Given the description of an element on the screen output the (x, y) to click on. 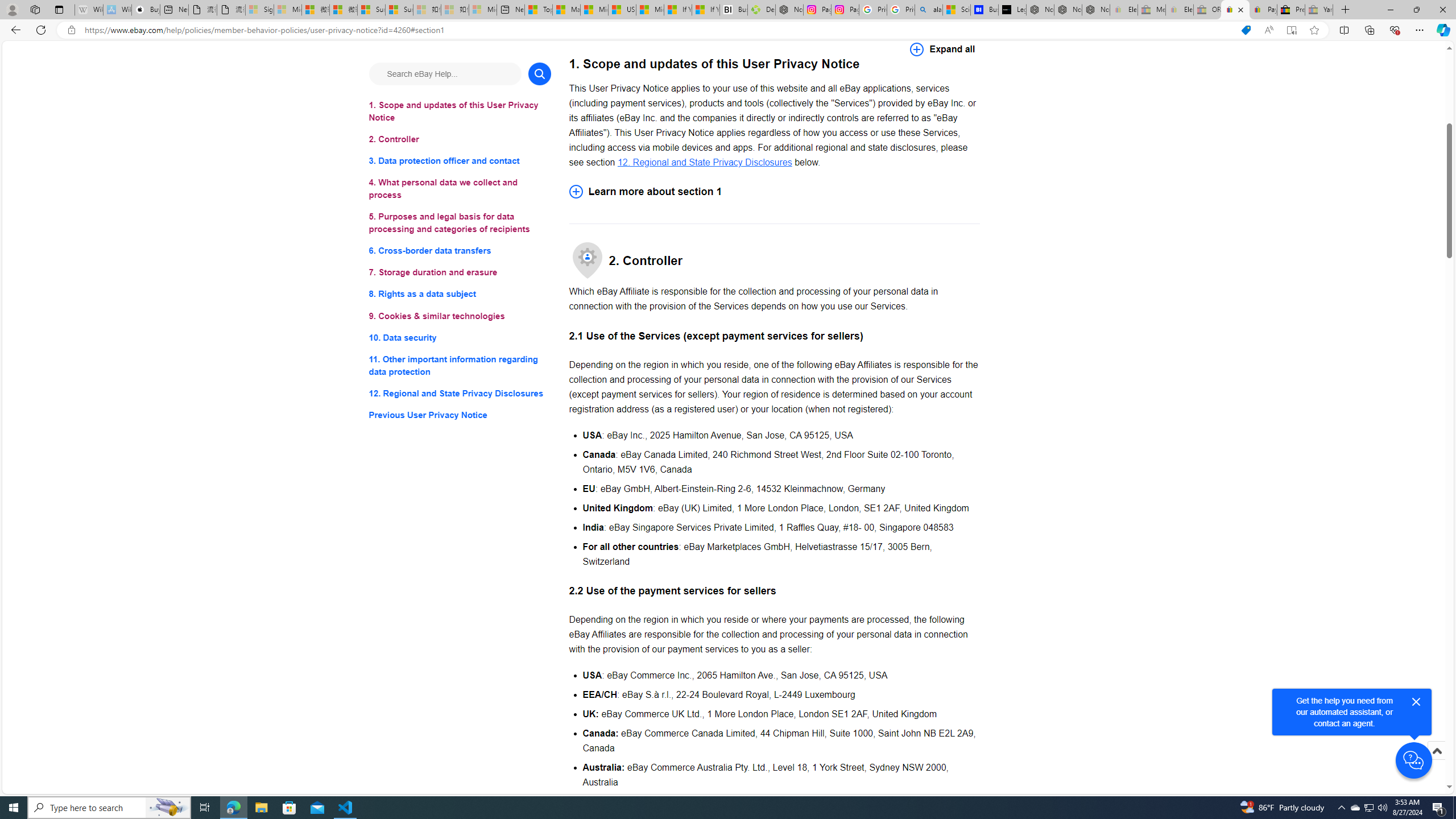
Search eBay Help... (444, 73)
Scroll to top (1435, 762)
3. Data protection officer and contact (459, 160)
11. Other important information regarding data protection (459, 365)
6. Cross-border data transfers (459, 250)
4. What personal data we collect and process (459, 189)
Scroll to top (1435, 750)
